Given the description of an element on the screen output the (x, y) to click on. 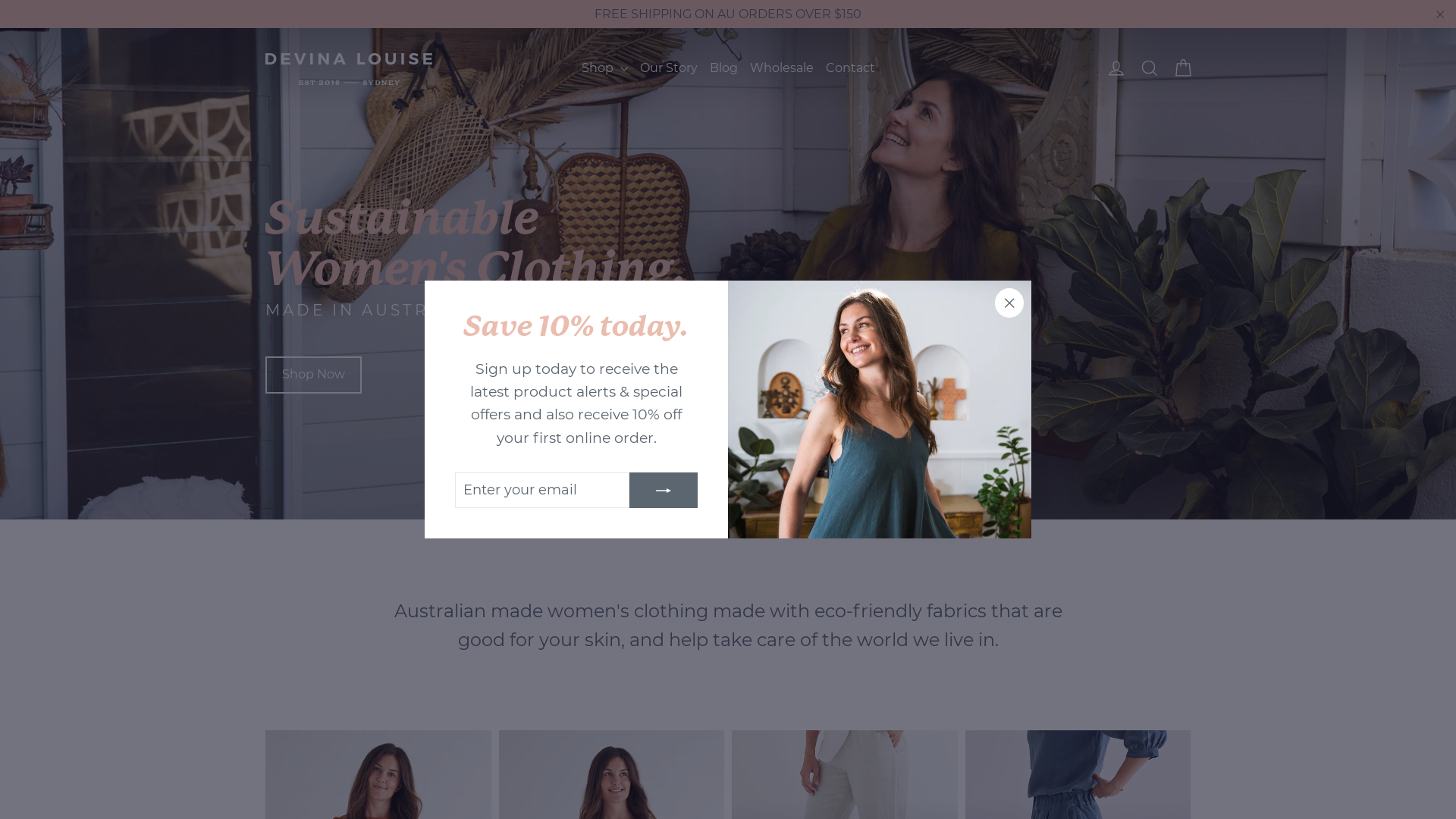
Shop Now Element type: text (313, 374)
icon-search
Search Element type: text (1149, 68)
icon-X
"Close (esc)" Element type: text (1008, 302)
Blog Element type: text (723, 67)
Contact Element type: text (849, 67)
account
Log in Element type: text (1115, 68)
Cart Element type: text (1182, 68)
Our Story Element type: text (668, 67)
Wholesale Element type: text (781, 67)
